Given the description of an element on the screen output the (x, y) to click on. 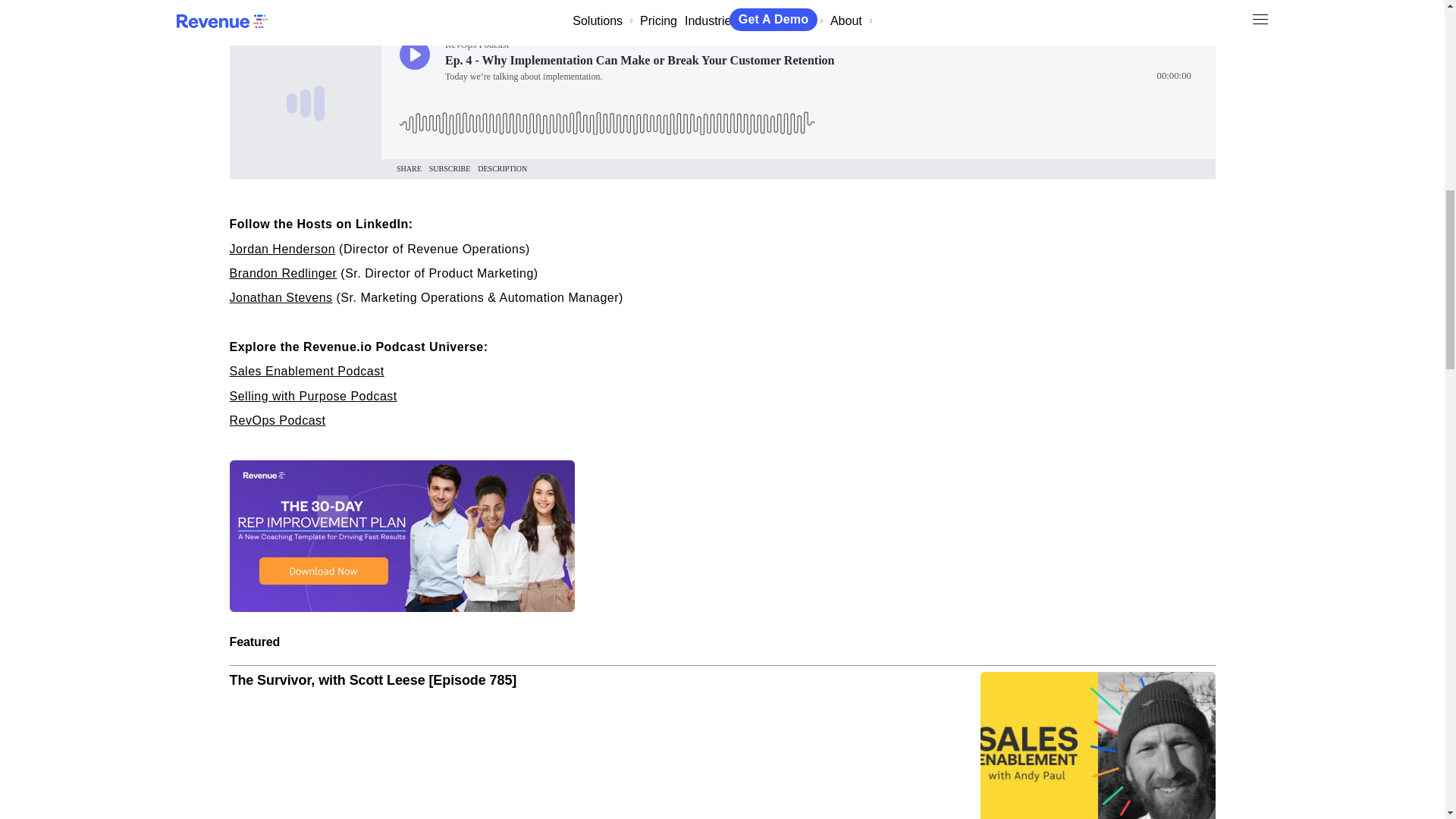
Embedded CTA (400, 535)
Brandon Redlinger (282, 273)
Selling with Purpose Podcast (312, 395)
RevOps Podcast (276, 420)
Jonathan Stevens (279, 297)
Sales Enablement Podcast (306, 370)
Jordan Henderson (281, 248)
